Given the description of an element on the screen output the (x, y) to click on. 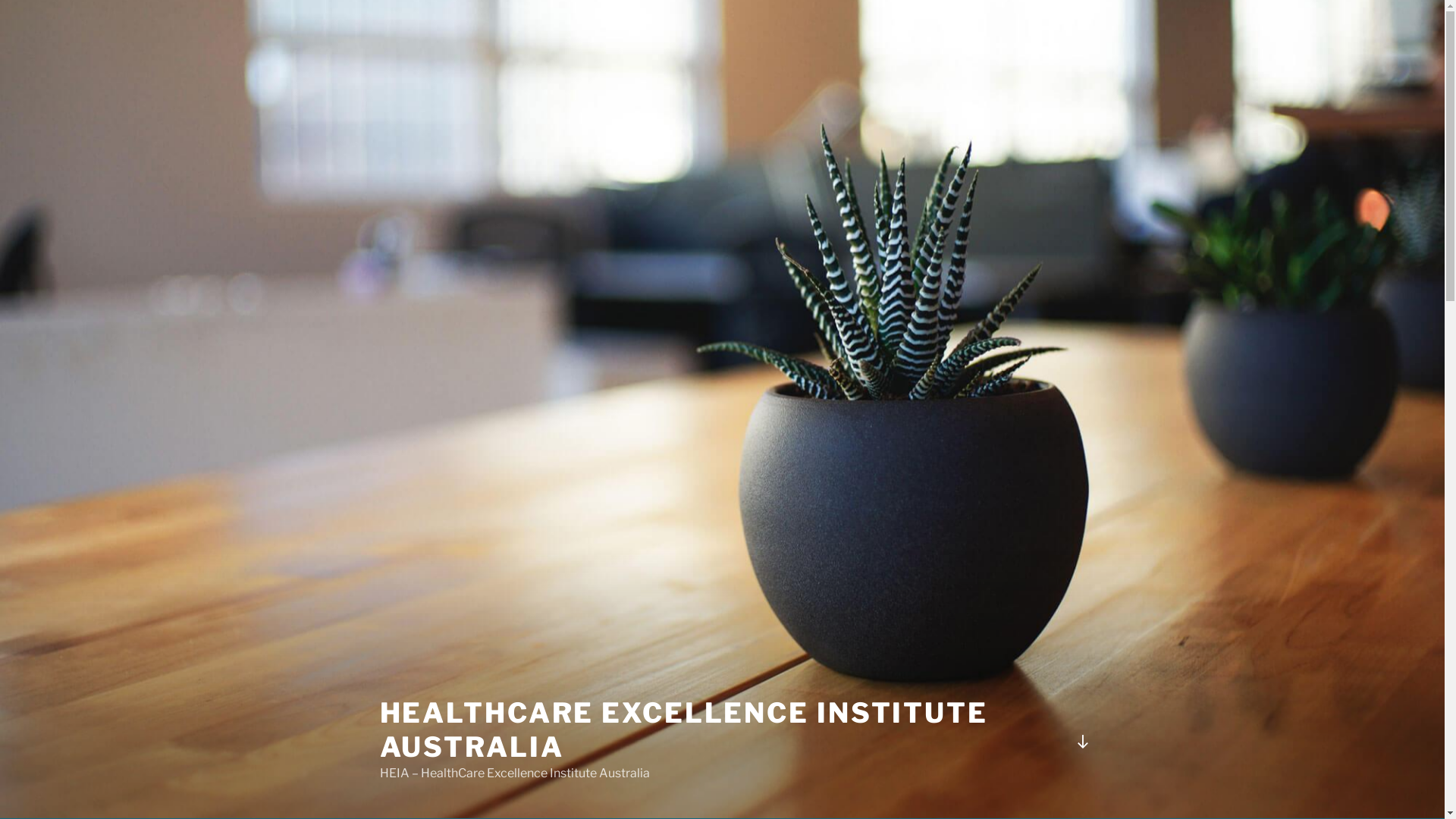
Scroll down to content Element type: text (1082, 741)
HEALTHCARE EXCELLENCE INSTITUTE AUSTRALIA Element type: text (683, 729)
Skip to content Element type: text (0, 0)
